Given the description of an element on the screen output the (x, y) to click on. 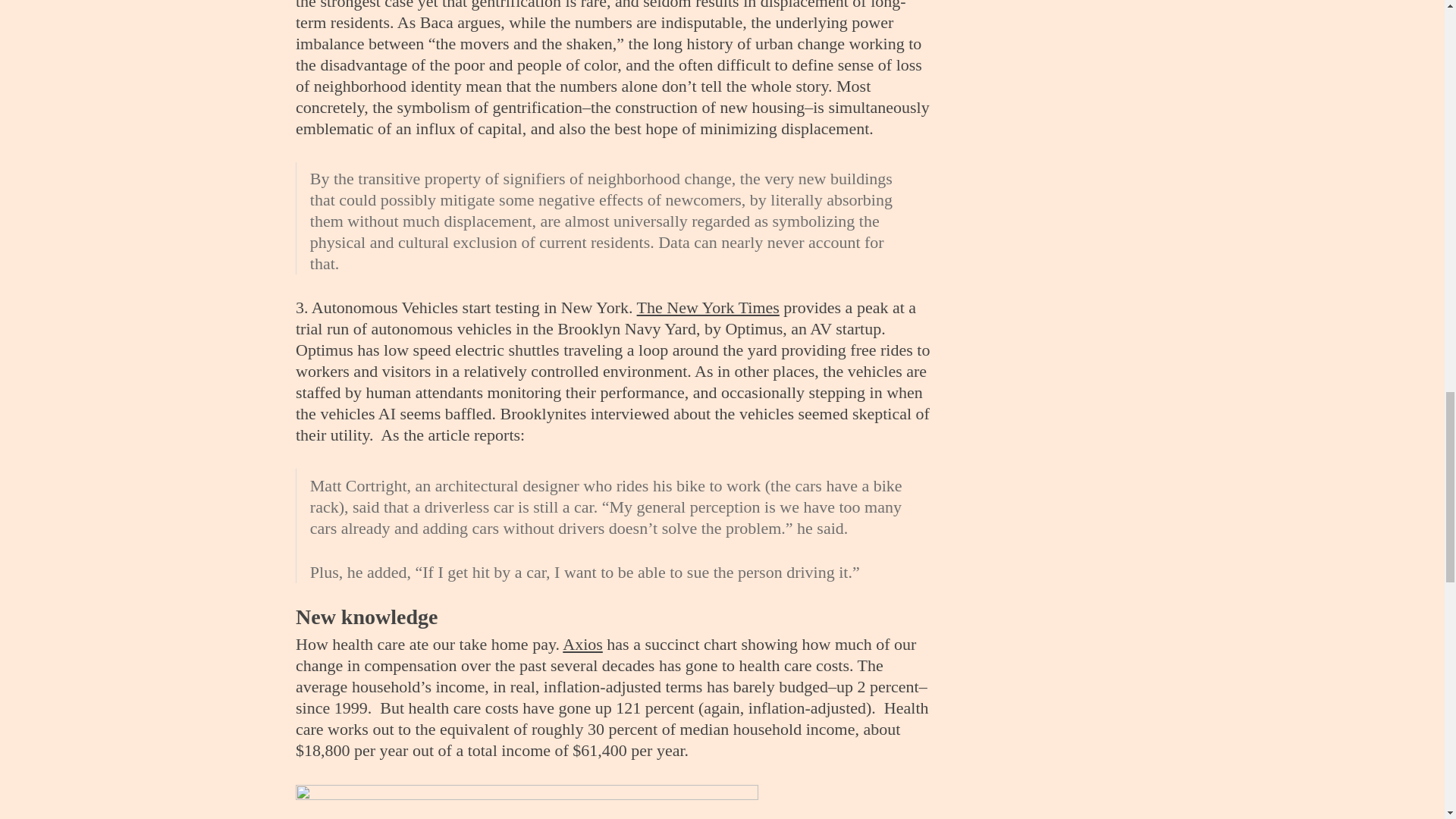
The New York Times (707, 307)
Axios (582, 643)
